Given the description of an element on the screen output the (x, y) to click on. 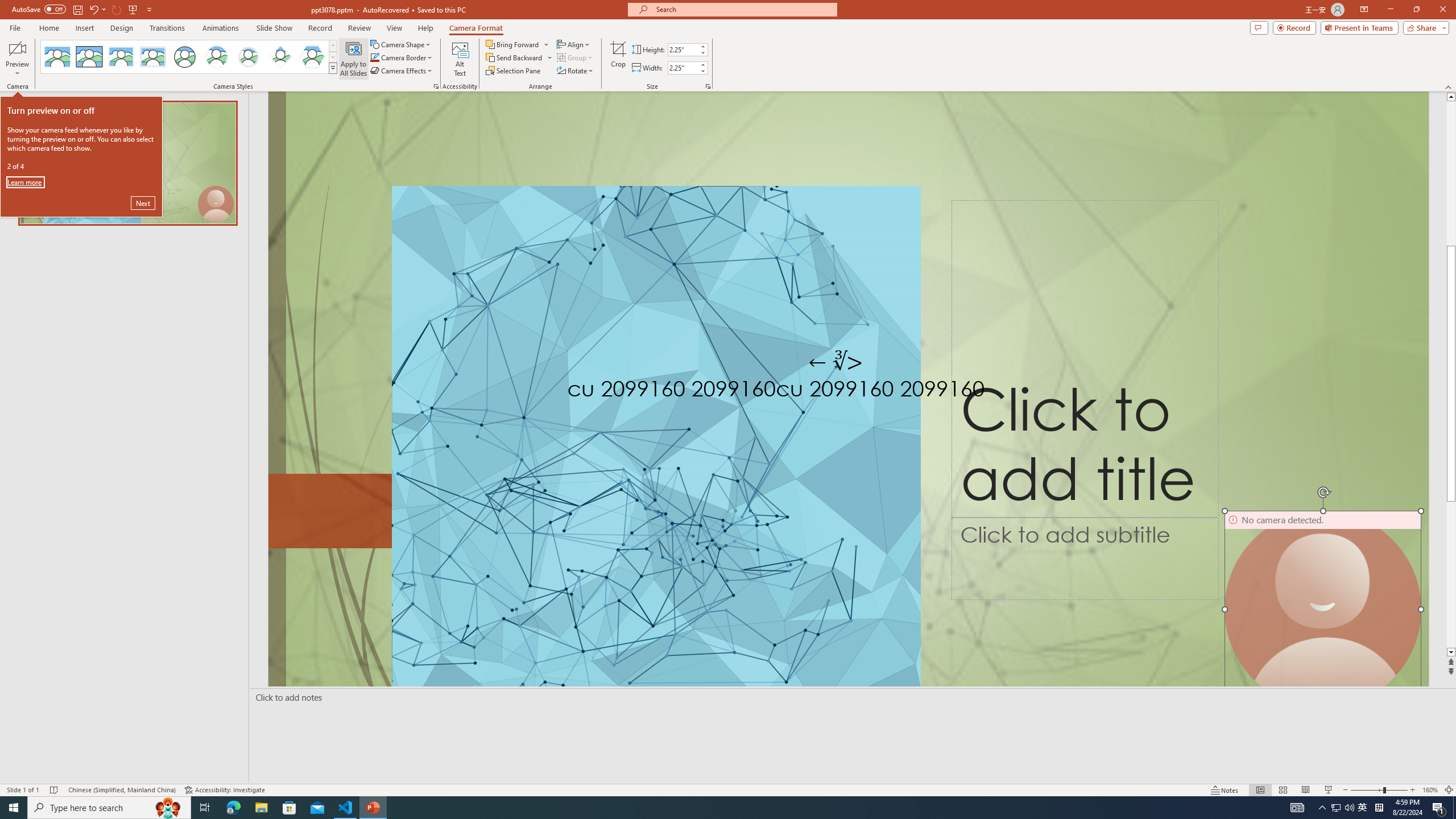
Center Shadow Hexagon (312, 56)
Camera Border (401, 56)
Rotate (575, 69)
Crop (617, 58)
